Given the description of an element on the screen output the (x, y) to click on. 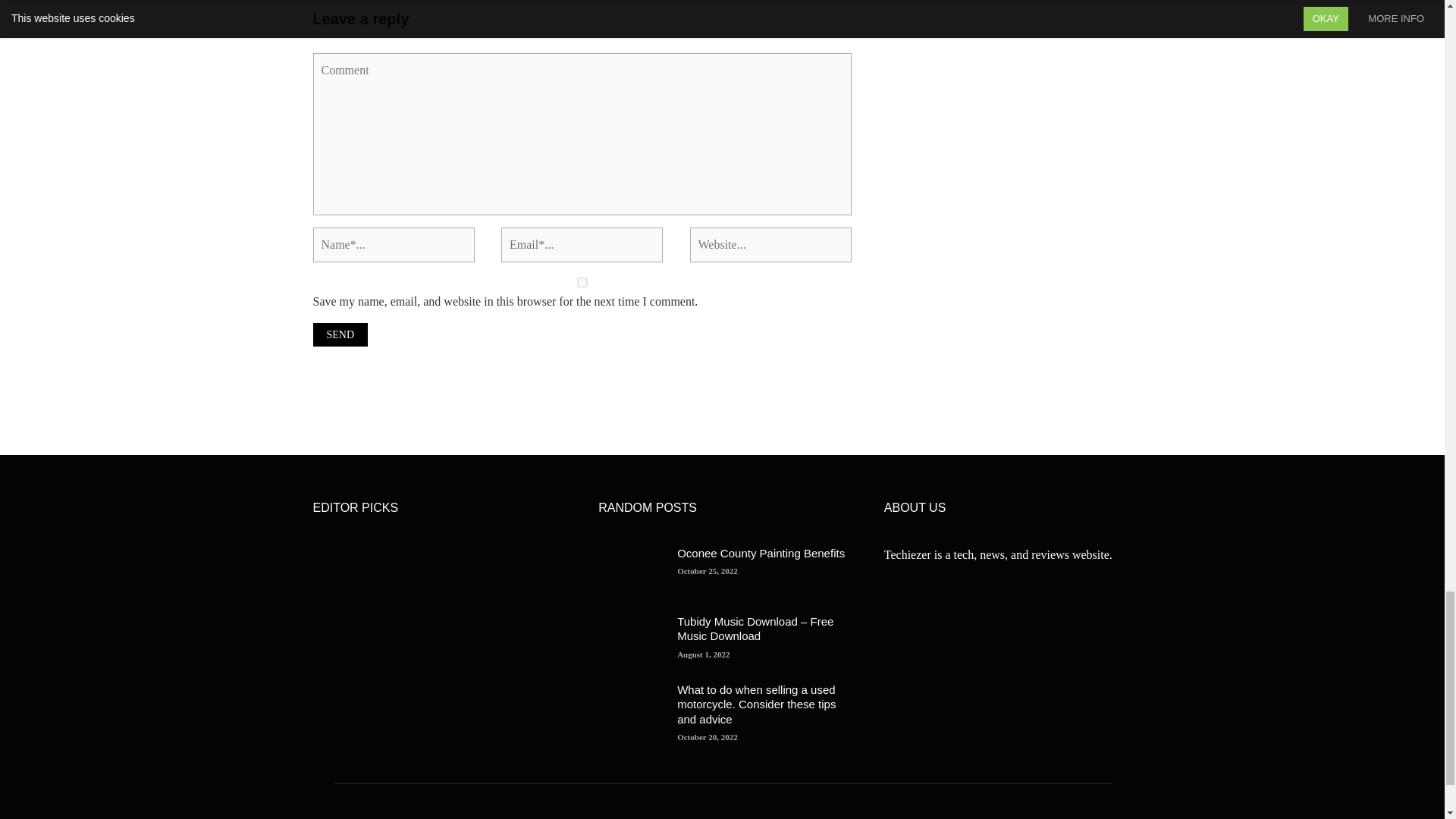
yes (581, 282)
Send (340, 334)
